Given the description of an element on the screen output the (x, y) to click on. 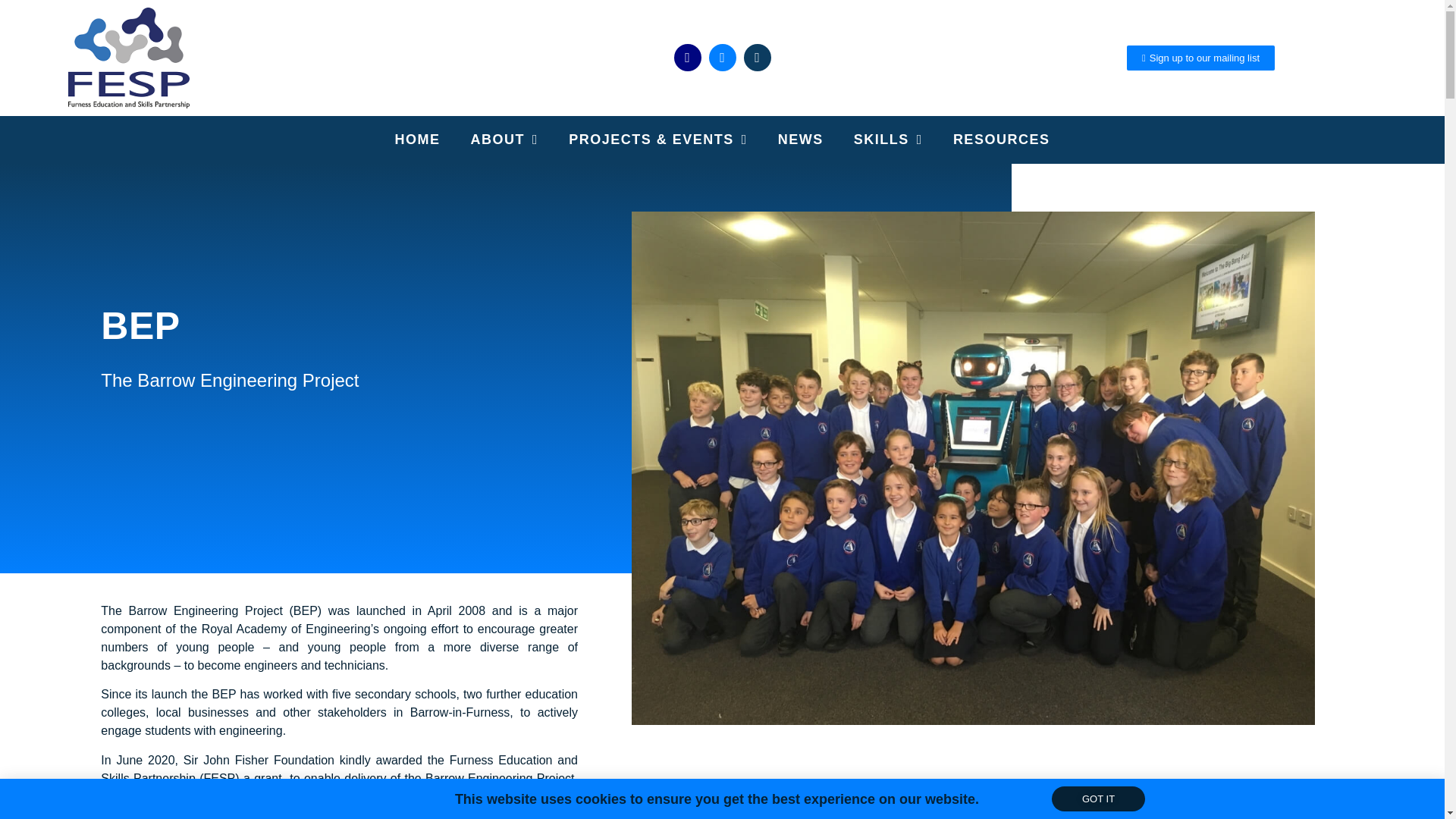
HOME (417, 139)
ABOUT (504, 139)
Sign up to our mailing list (1200, 57)
SKILLS (887, 139)
NEWS (800, 139)
RESOURCES (1001, 139)
